Given the description of an element on the screen output the (x, y) to click on. 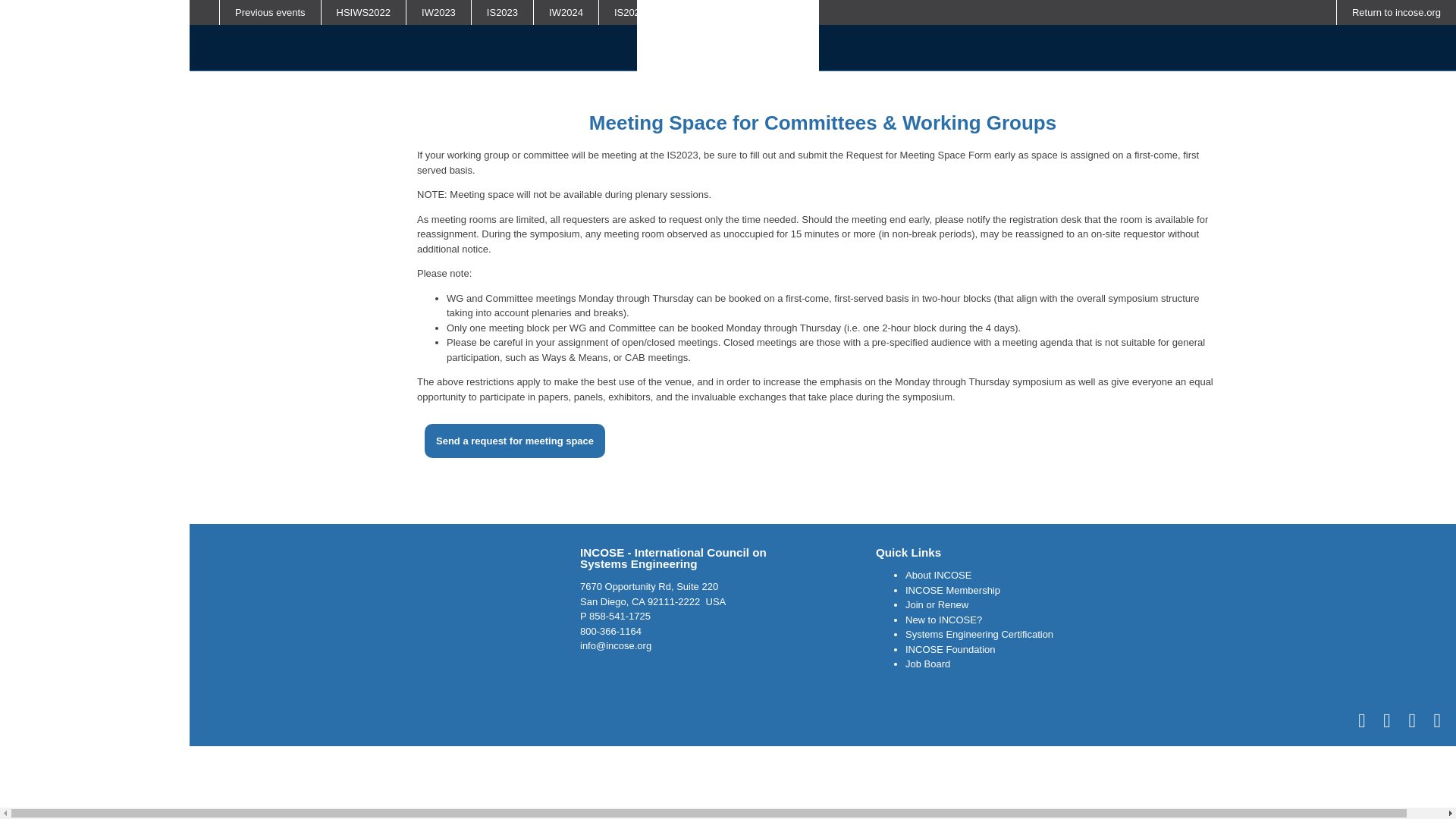
Previous events (269, 12)
IS2023 (502, 12)
IS2024 (629, 12)
Job Board (927, 663)
About INCOSE (938, 574)
IW2024 (565, 12)
INCOSE Membership (952, 590)
IW2023 (438, 12)
IS2025 (757, 12)
INCOSE Foundation (950, 649)
New to INCOSE? (943, 619)
IW2025 (693, 12)
Join or Renew (936, 604)
Send a request for meeting space (515, 440)
HSIWS2022 (363, 12)
